Given the description of an element on the screen output the (x, y) to click on. 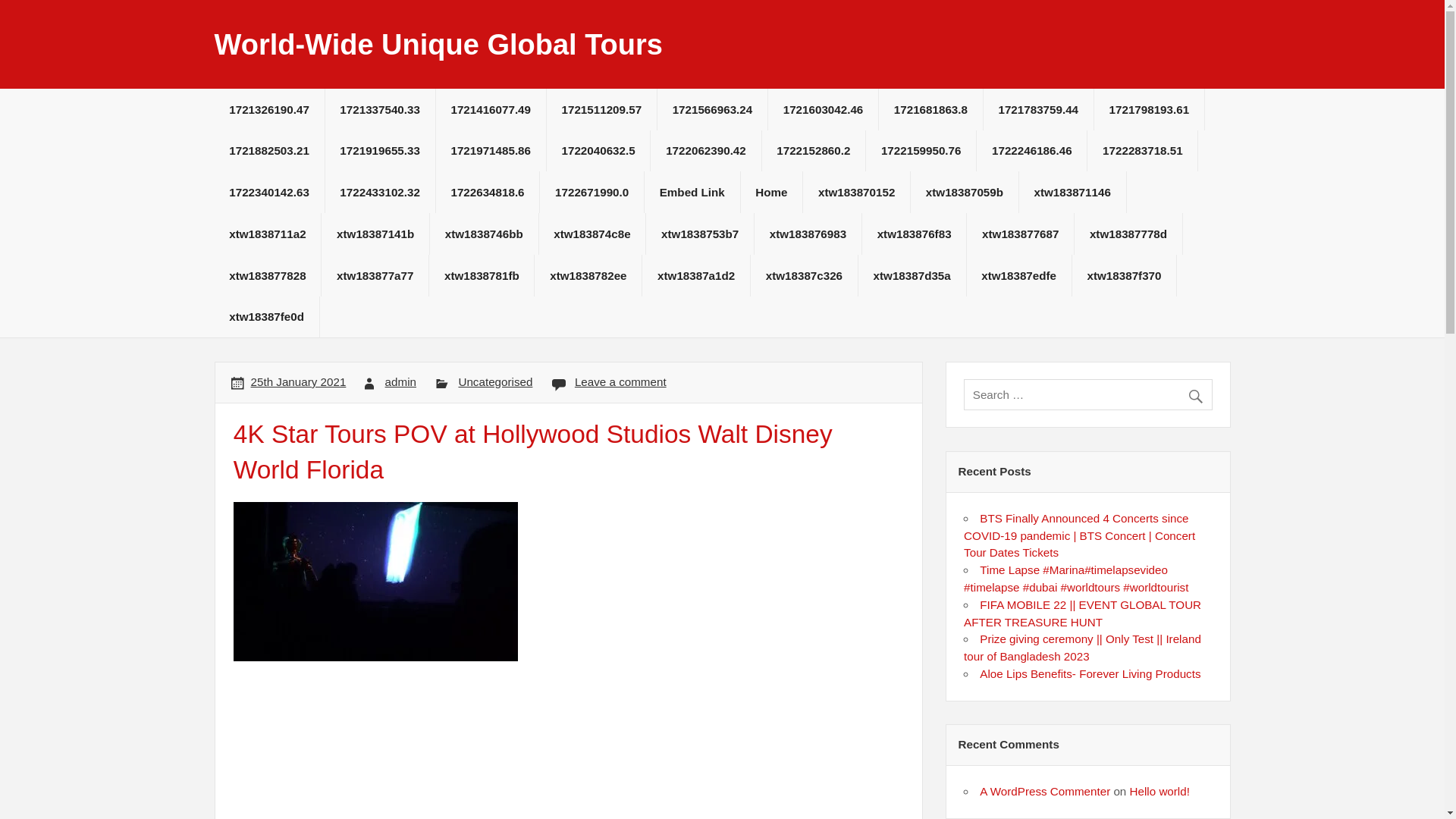
1721882503.21 (268, 150)
1722340142.63 (268, 191)
1721783759.44 (1038, 109)
1721919655.33 (379, 150)
xtw183871146 (1072, 191)
Home (772, 191)
xtw183877828 (267, 275)
1722433102.32 (379, 191)
xtw18387059b (964, 191)
1721326190.47 (268, 109)
xtw18387778d (1128, 233)
1721416077.49 (490, 109)
1722246186.46 (1031, 150)
World-Wide Unique Global Tours (438, 44)
1722062390.42 (705, 150)
